Given the description of an element on the screen output the (x, y) to click on. 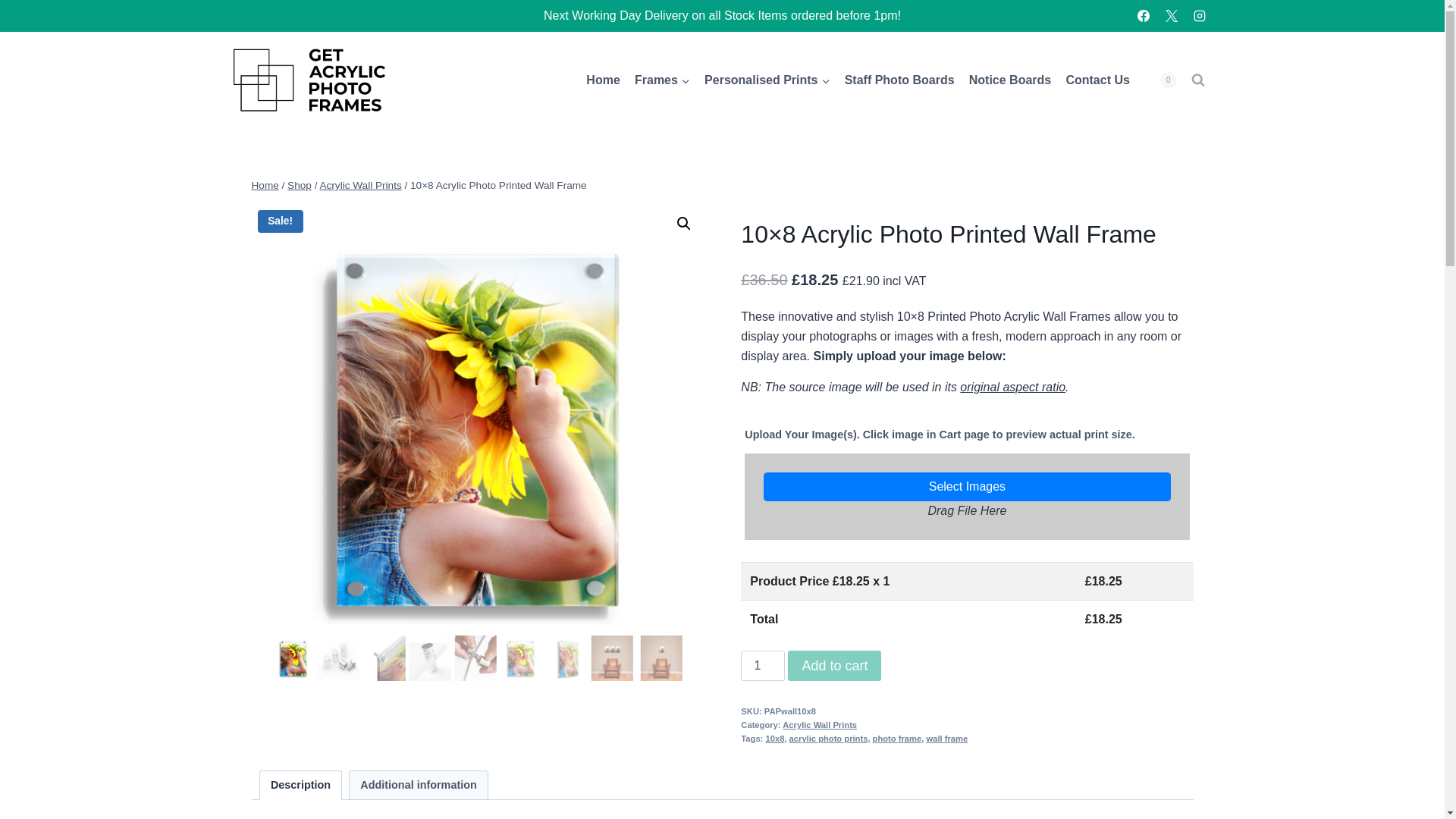
1 (762, 665)
Contact Us (1097, 80)
Notice Boards (1009, 80)
Personalised Prints (767, 80)
Frames (662, 80)
Staff Photo Boards (898, 80)
Shop (298, 184)
Home (265, 184)
Home (603, 80)
Acrylic Wall Prints (359, 184)
0 (1160, 80)
